Given the description of an element on the screen output the (x, y) to click on. 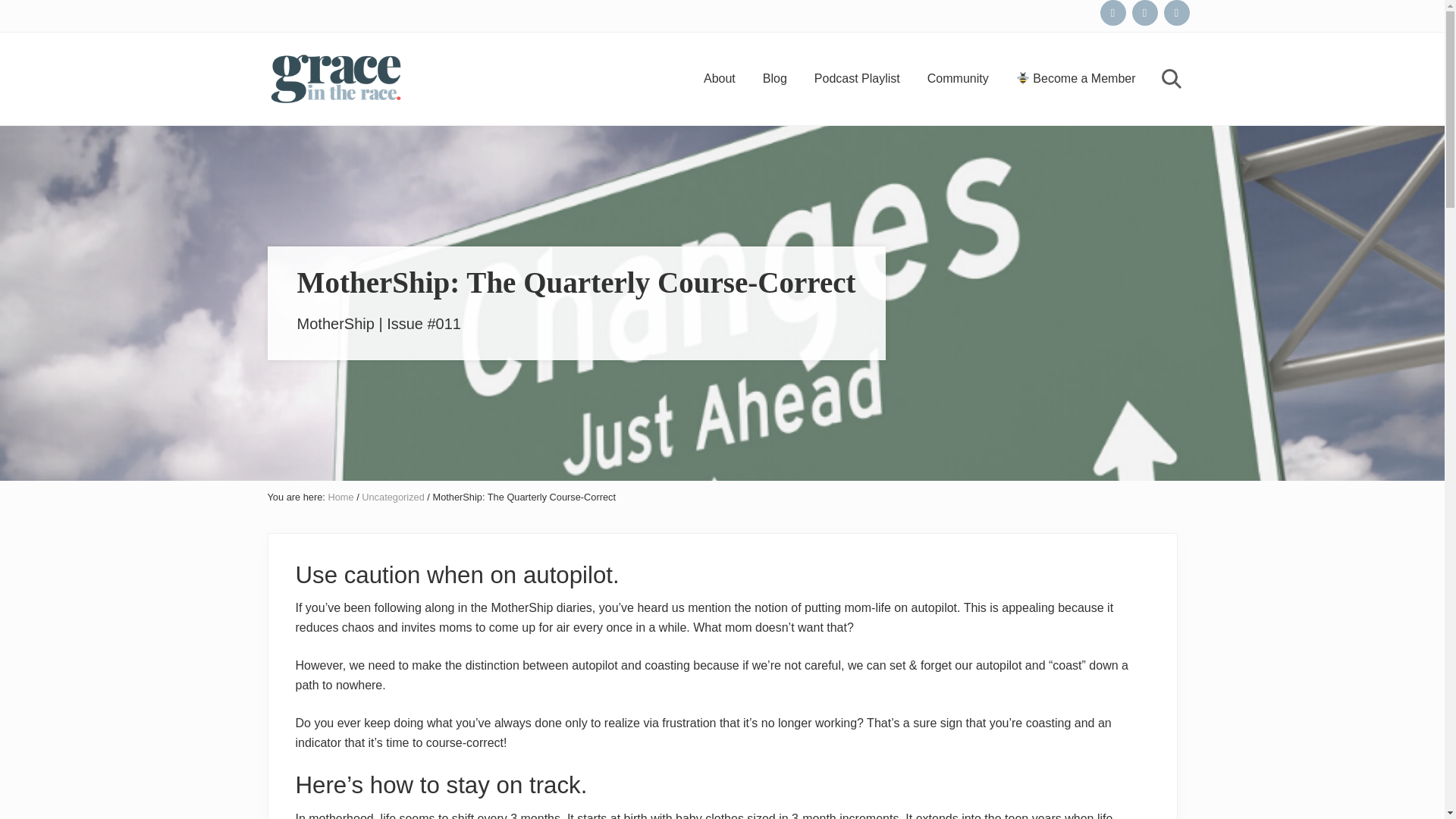
Become a Member (1076, 78)
Home (340, 496)
Spotify (1112, 12)
About (719, 78)
Community (958, 78)
Uncategorized (393, 496)
Podcast Playlist (857, 78)
Search (1169, 78)
Contact (1176, 12)
